Given the description of an element on the screen output the (x, y) to click on. 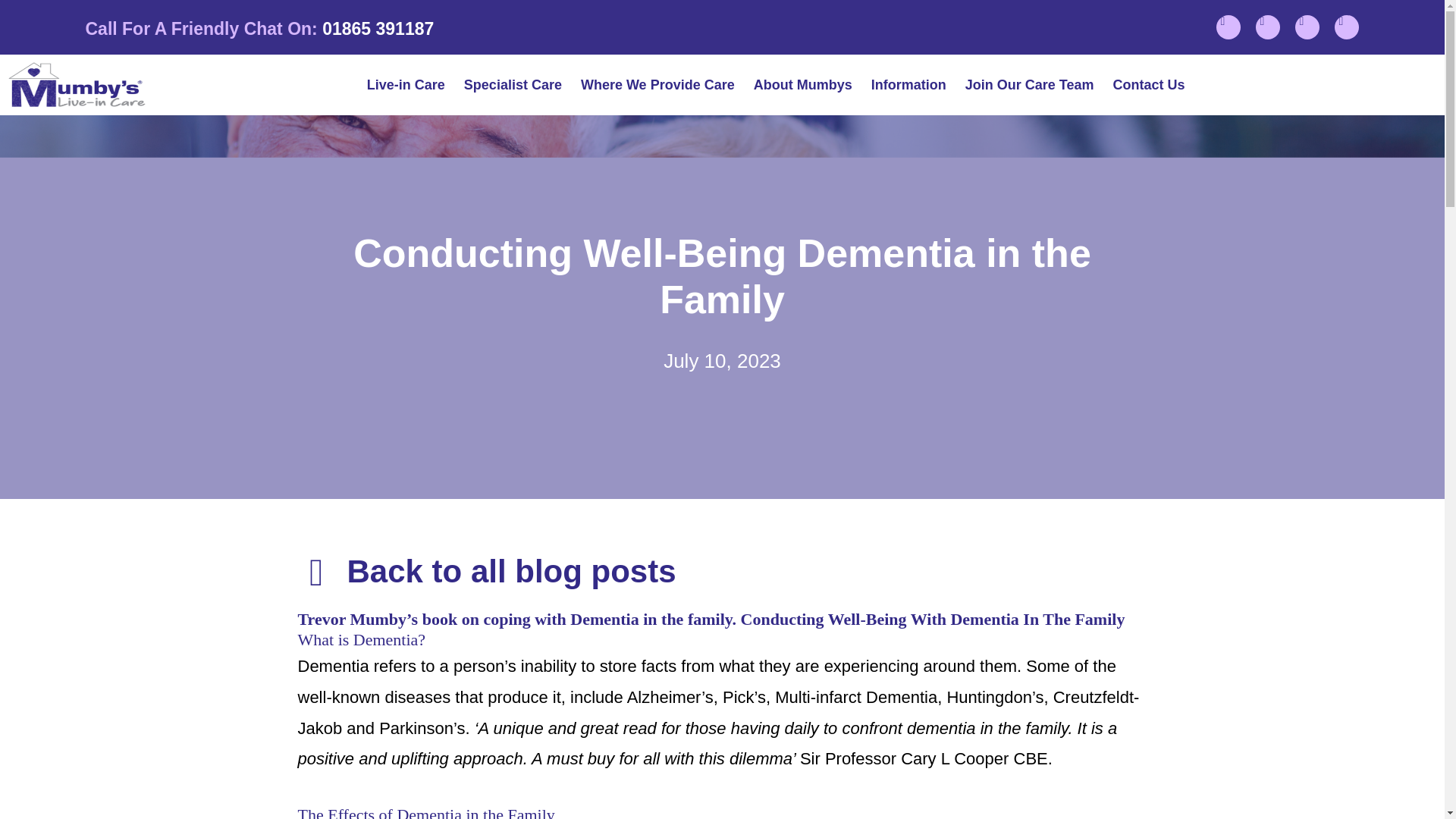
01865 391187 (377, 28)
Live-in Care (406, 84)
Instagram (1267, 27)
Linkedin-in (1307, 27)
Specialist Care (512, 84)
Where We Provide Care (657, 84)
About Mumbys (802, 84)
Facebook-f (1227, 27)
Youtube (1346, 27)
